Given the description of an element on the screen output the (x, y) to click on. 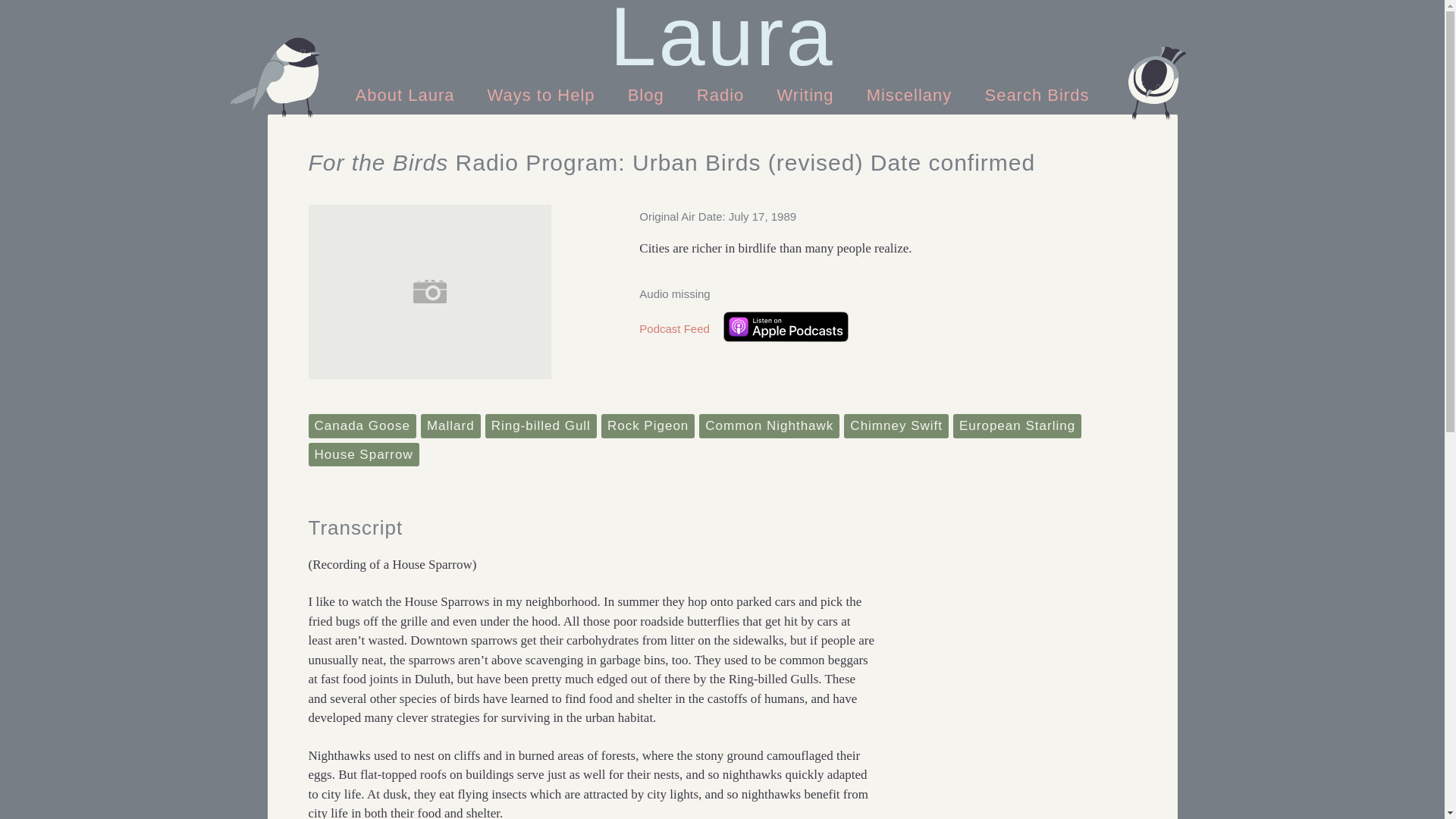
Mallard (450, 426)
House Sparrow (363, 454)
Chimney Swift (896, 426)
Miscellany (909, 94)
Common Nighthawk (769, 426)
European Starling (1017, 426)
Rock Pigeon (647, 426)
Blog (646, 94)
Canada Goose (360, 426)
Radio (722, 94)
Podcast Feed (674, 329)
Writing (804, 94)
Search Birds (1036, 94)
Ways to Help (544, 94)
About Laura (408, 94)
